Given the description of an element on the screen output the (x, y) to click on. 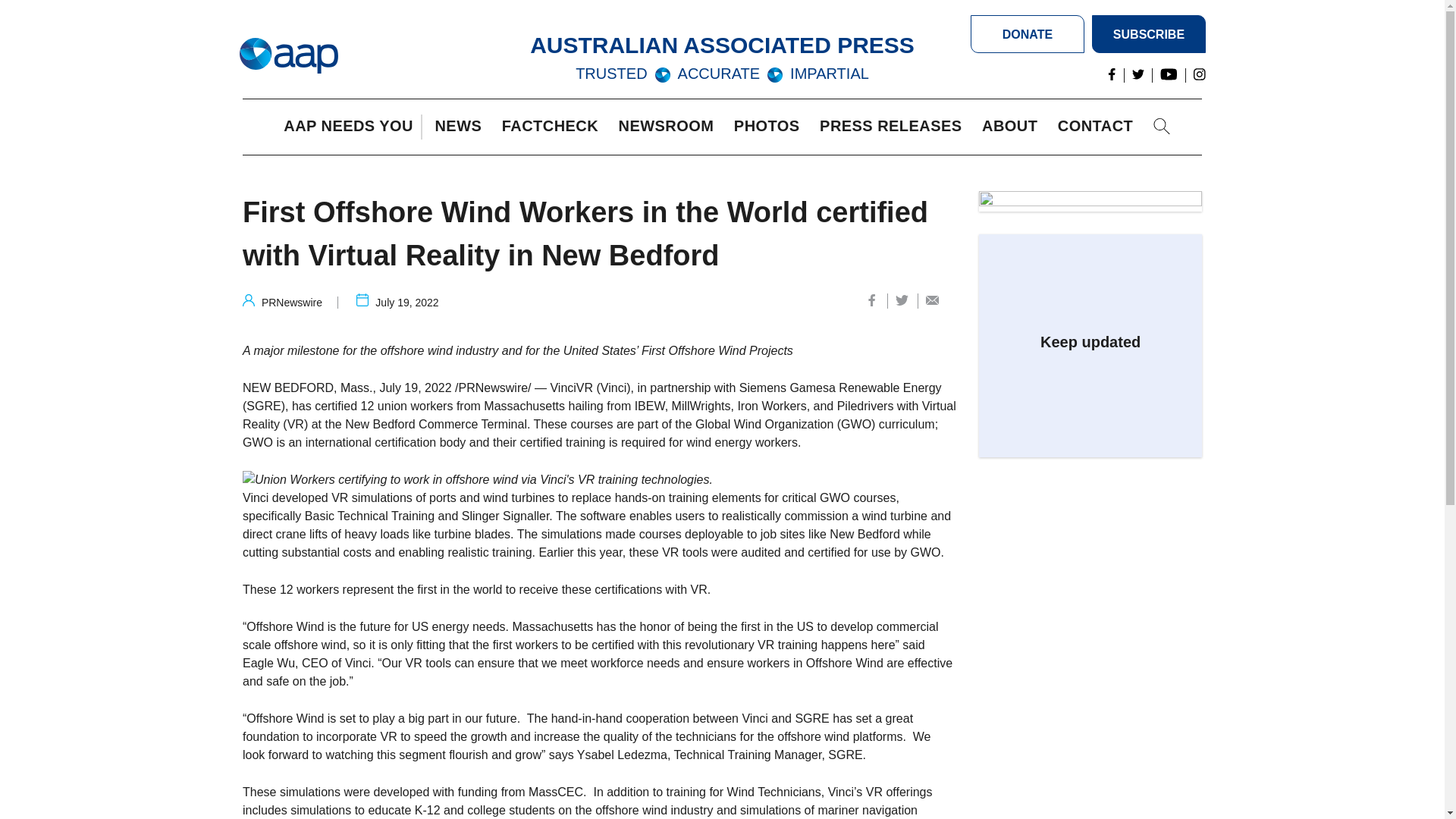
Home (288, 56)
NEWS (461, 126)
PRESS RELEASES (894, 126)
AAP NEEDS YOU (351, 126)
ABOUT (1013, 126)
NEWSROOM (670, 126)
AUSTRALIAN ASSOCIATED PRESS (721, 44)
DONATE (1027, 34)
SUBSCRIBE (1148, 34)
PHOTOS (770, 126)
CONTACT (1099, 126)
FACTCHECK (553, 126)
